Given the description of an element on the screen output the (x, y) to click on. 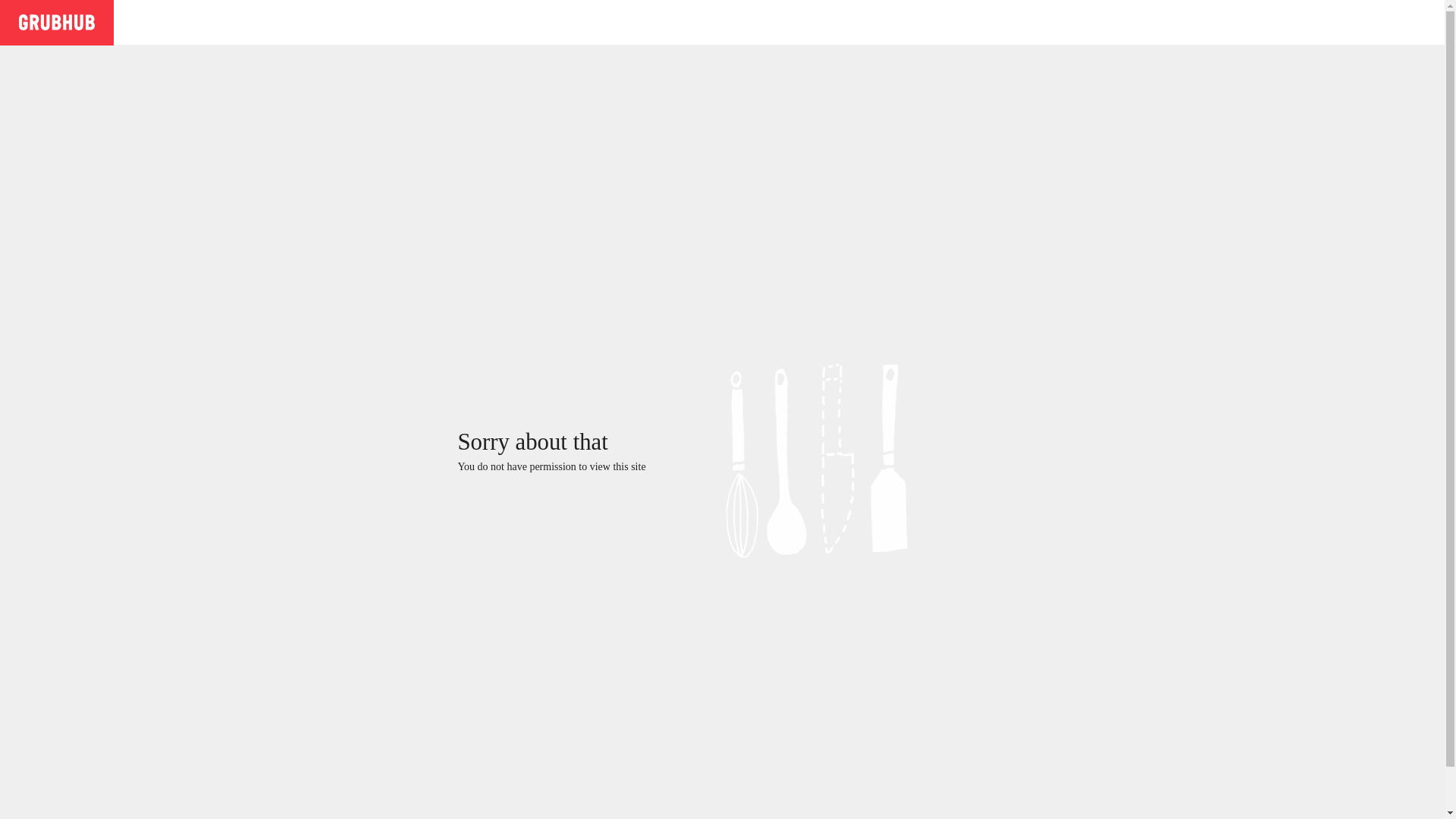
grubhub (56, 21)
